Given the description of an element on the screen output the (x, y) to click on. 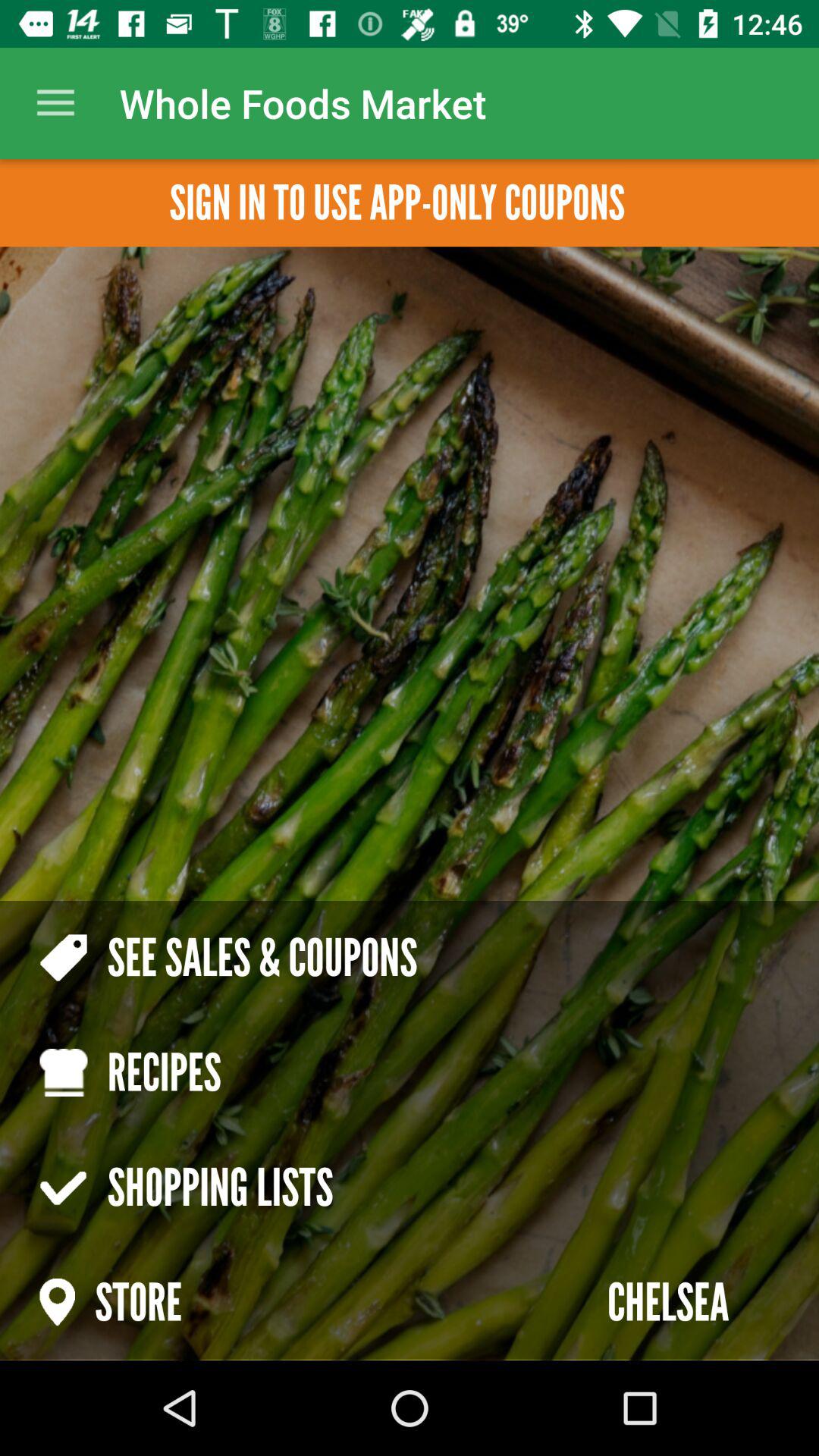
turn on the icon at the top left corner (55, 103)
